Given the description of an element on the screen output the (x, y) to click on. 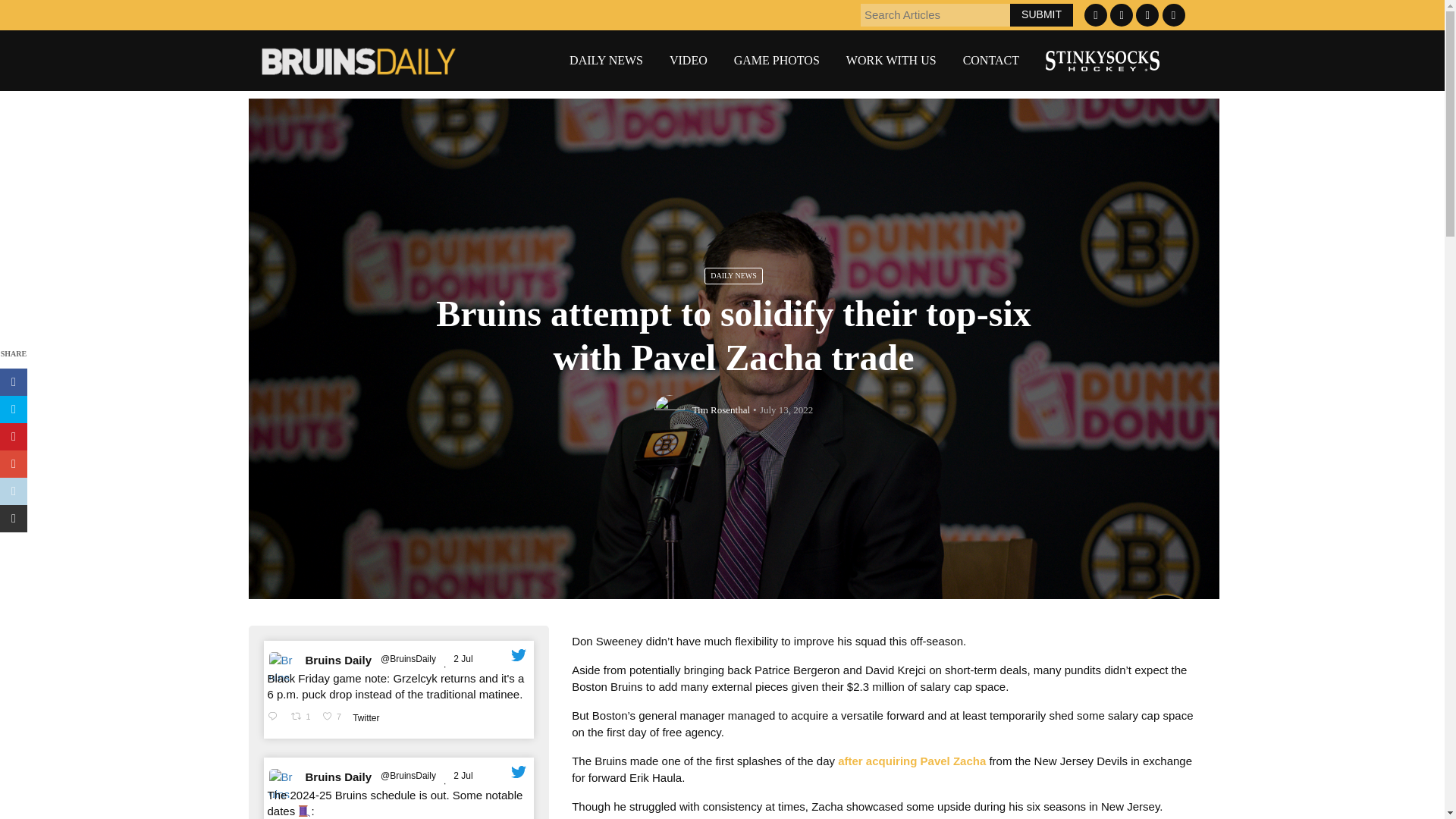
CONTACT (990, 60)
Submit (1041, 14)
WORK WITH US (890, 60)
VIDEO (688, 60)
DAILY NEWS (606, 60)
DAILY NEWS (733, 275)
Submit (1041, 14)
BruinsDaily.com Daily News (606, 60)
GAME PHOTOS (776, 60)
